Given the description of an element on the screen output the (x, y) to click on. 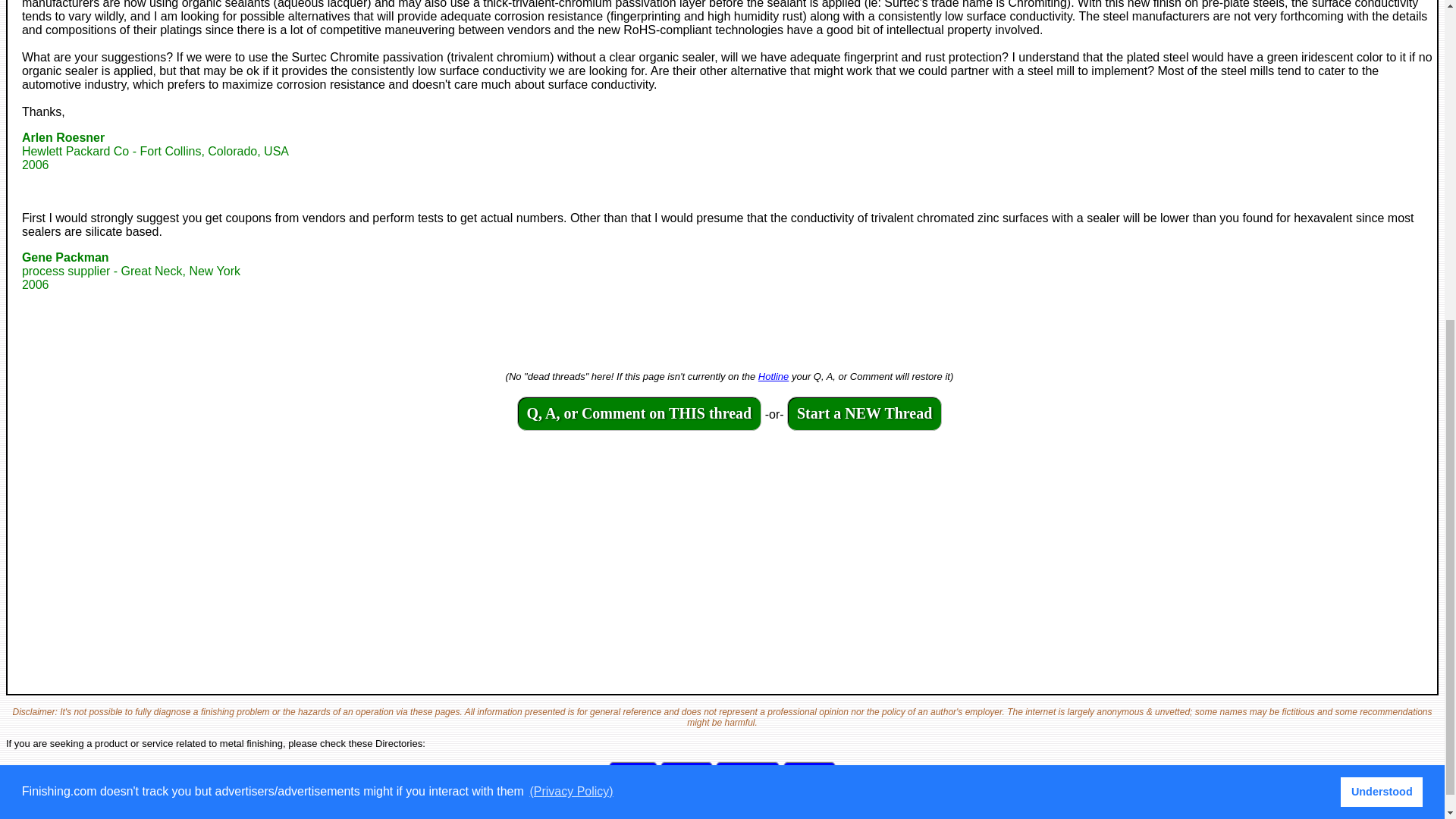
Start a NEW Thread (864, 413)
Hotline (687, 778)
Understood (773, 376)
Q, A, or Comment on THIS thread (633, 778)
